Given the description of an element on the screen output the (x, y) to click on. 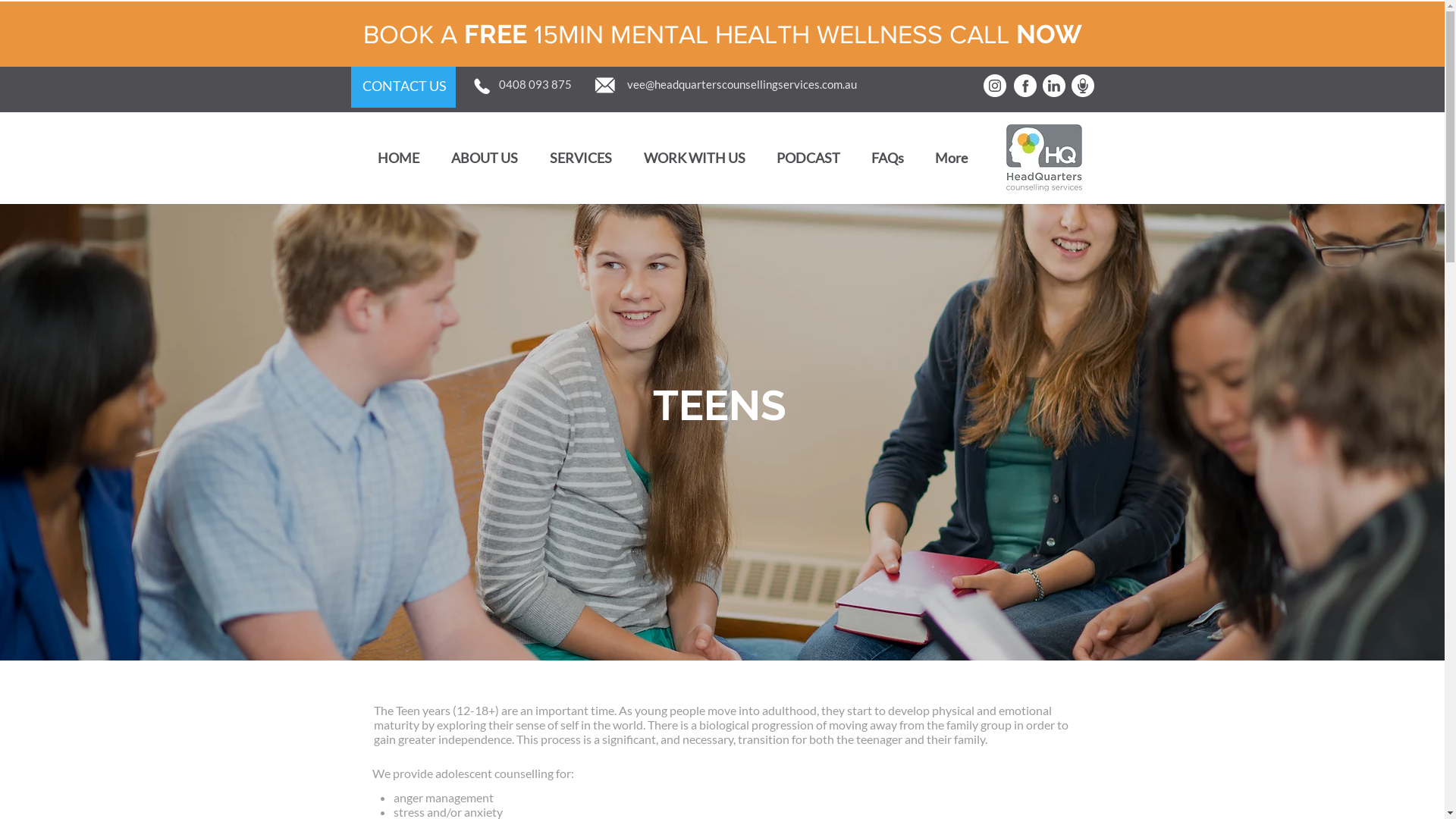
ABOUT US Element type: text (484, 157)
CONTACT US Element type: text (404, 86)
vee@headquarterscounsellingservices.com.au Element type: text (741, 84)
HOME Element type: text (397, 157)
BOOK A FREE 15MIN MENTAL HEALTH WELLNESS CALL NOW Element type: text (721, 32)
FAQs Element type: text (887, 157)
PODCAST Element type: text (808, 157)
